Given the description of an element on the screen output the (x, y) to click on. 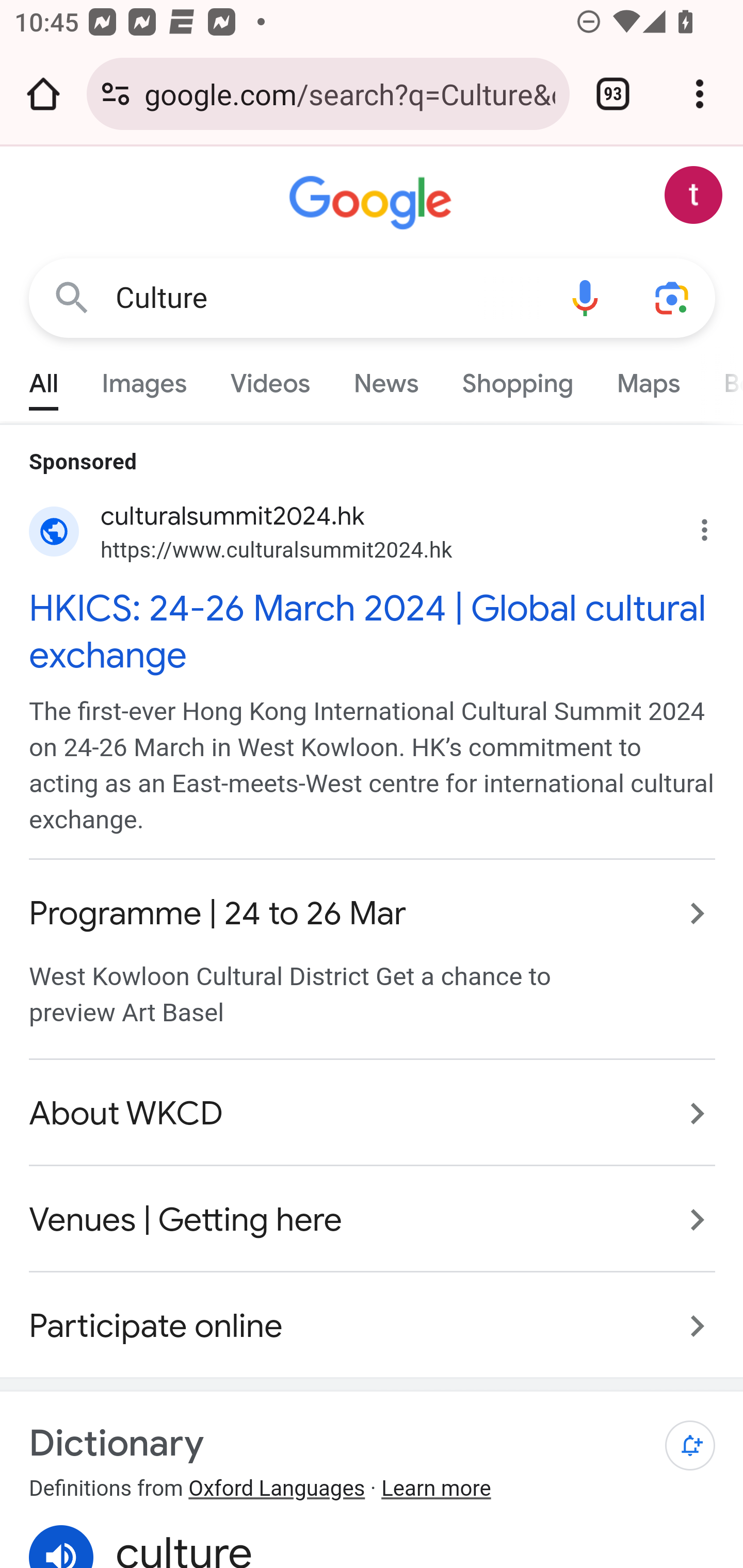
Open the home page (43, 93)
Connection is secure (115, 93)
Switch or close tabs (612, 93)
Customize and control Google Chrome (699, 93)
Google (372, 203)
Google Search (71, 296)
Search using your camera or photos (672, 296)
Culture (328, 297)
Images (144, 378)
Videos (270, 378)
News (385, 378)
Shopping (516, 378)
Maps (647, 378)
Why this ad? (714, 525)
HKICS: 24-26 March 2024 | Global cultural exchange (372, 631)
About WKCD (372, 1114)
Venues | Getting here (372, 1220)
Participate online (372, 1315)
Get notifications about Word of the day (690, 1444)
Oxford Languages (276, 1487)
Learn more (435, 1487)
 Listen  (61, 1546)
